Given the description of an element on the screen output the (x, y) to click on. 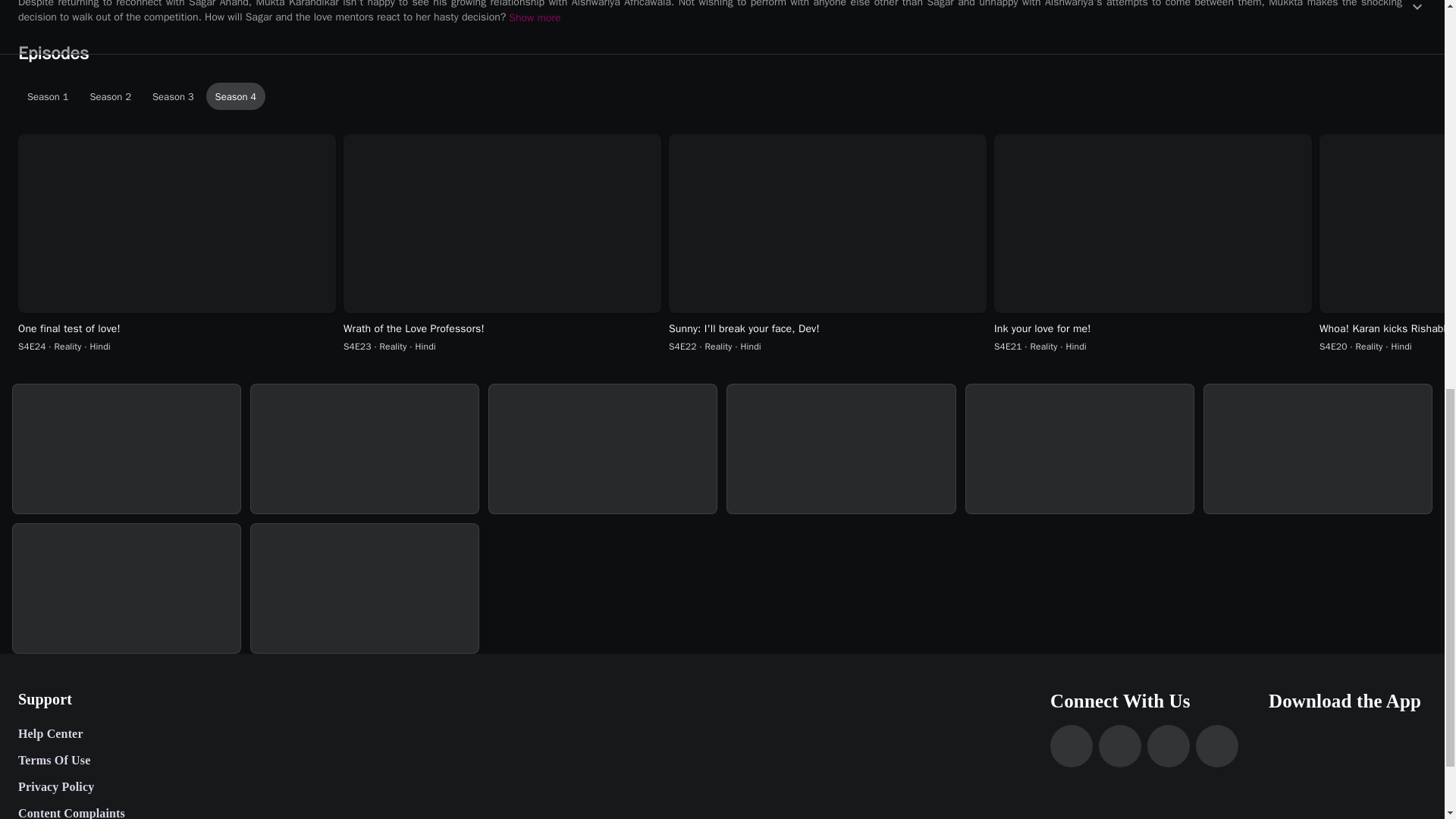
Season 1 (724, 95)
Season 4 (47, 95)
Ink your love for me! (236, 95)
Season 2 (1152, 328)
Wrath of the Love Professors! (111, 95)
Season 3 (502, 328)
One final test of love! (172, 95)
